Given the description of an element on the screen output the (x, y) to click on. 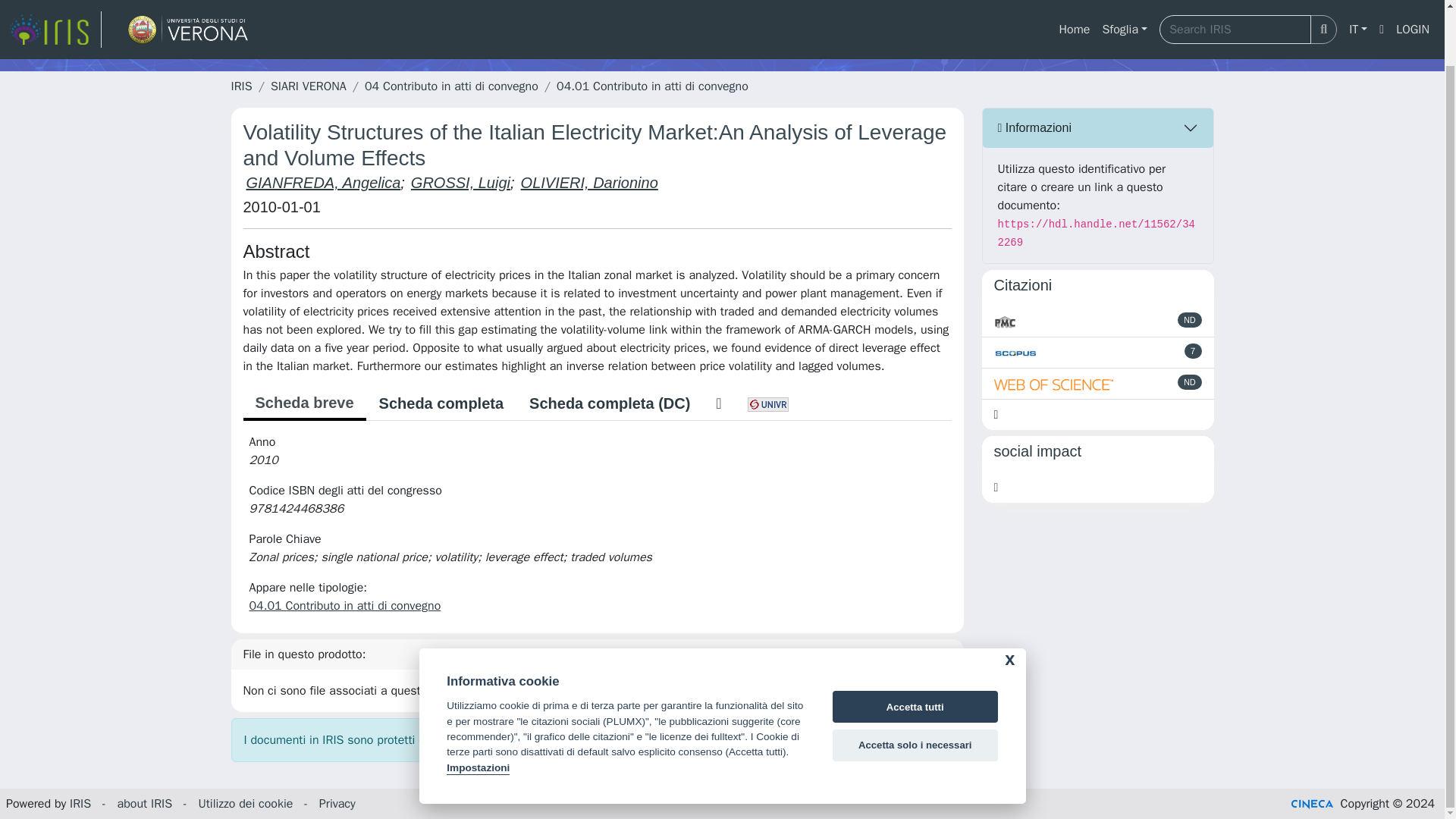
OLIVIERI, Darionino (589, 182)
04 Contributo in atti di convegno (451, 86)
Scheda breve (304, 403)
GIANFREDA, Angelica (323, 182)
04.01 Contributo in atti di convegno (652, 86)
IRIS (240, 86)
 Informazioni (1097, 128)
aggiornato in data 08-07-2024 22:34 (1193, 350)
04.01 Contributo in atti di convegno (344, 605)
SIARI VERONA (308, 86)
GROSSI, Luigi (460, 182)
Scheda completa (441, 403)
